Given the description of an element on the screen output the (x, y) to click on. 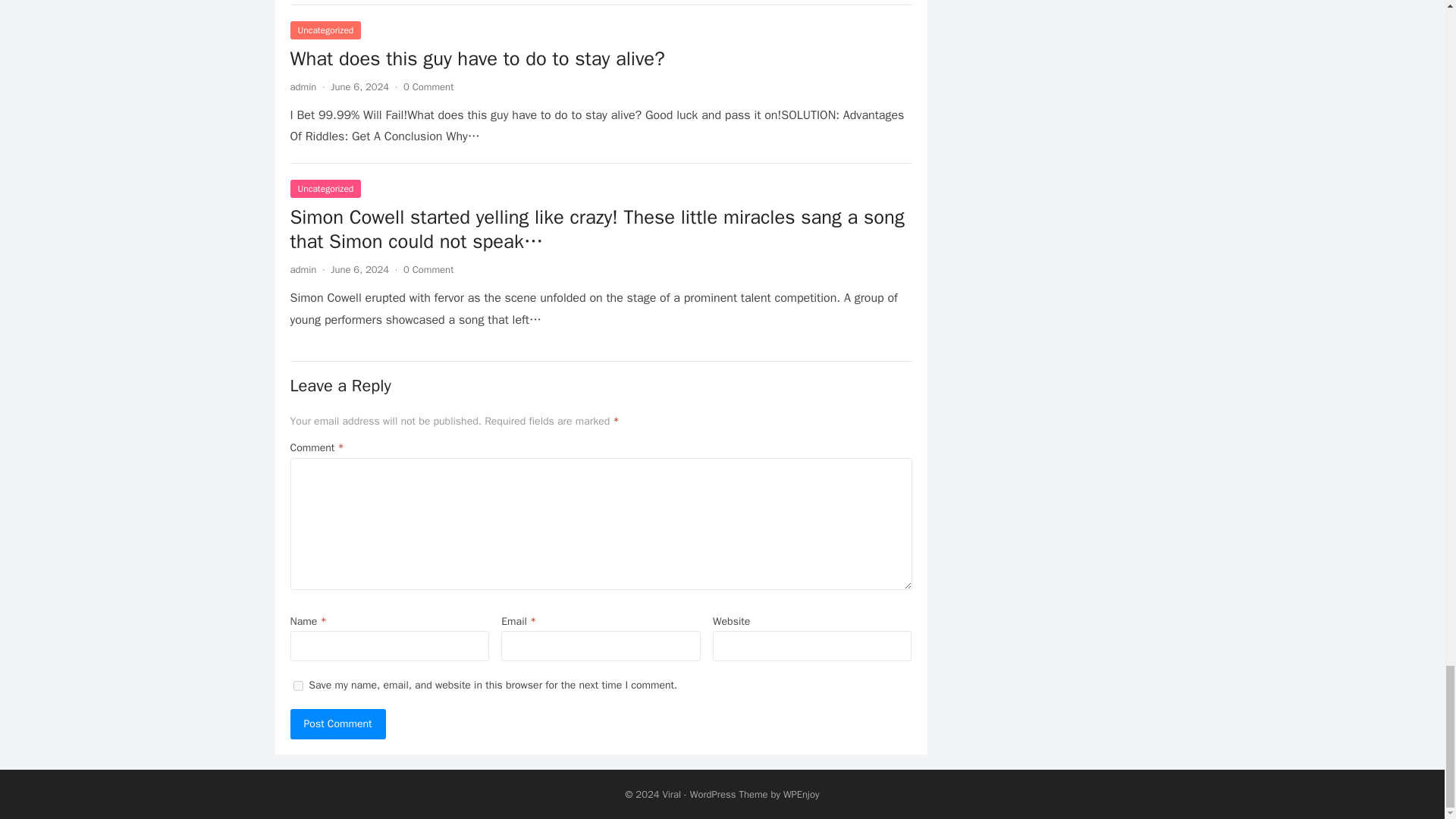
Posts by admin (302, 86)
0 Comment (427, 269)
What does this guy have to do to stay alive? (476, 58)
yes (297, 685)
admin (302, 269)
Post Comment (337, 724)
admin (302, 86)
Uncategorized (325, 30)
Uncategorized (325, 188)
0 Comment (427, 86)
Post Comment (337, 724)
Posts by admin (302, 269)
